Given the description of an element on the screen output the (x, y) to click on. 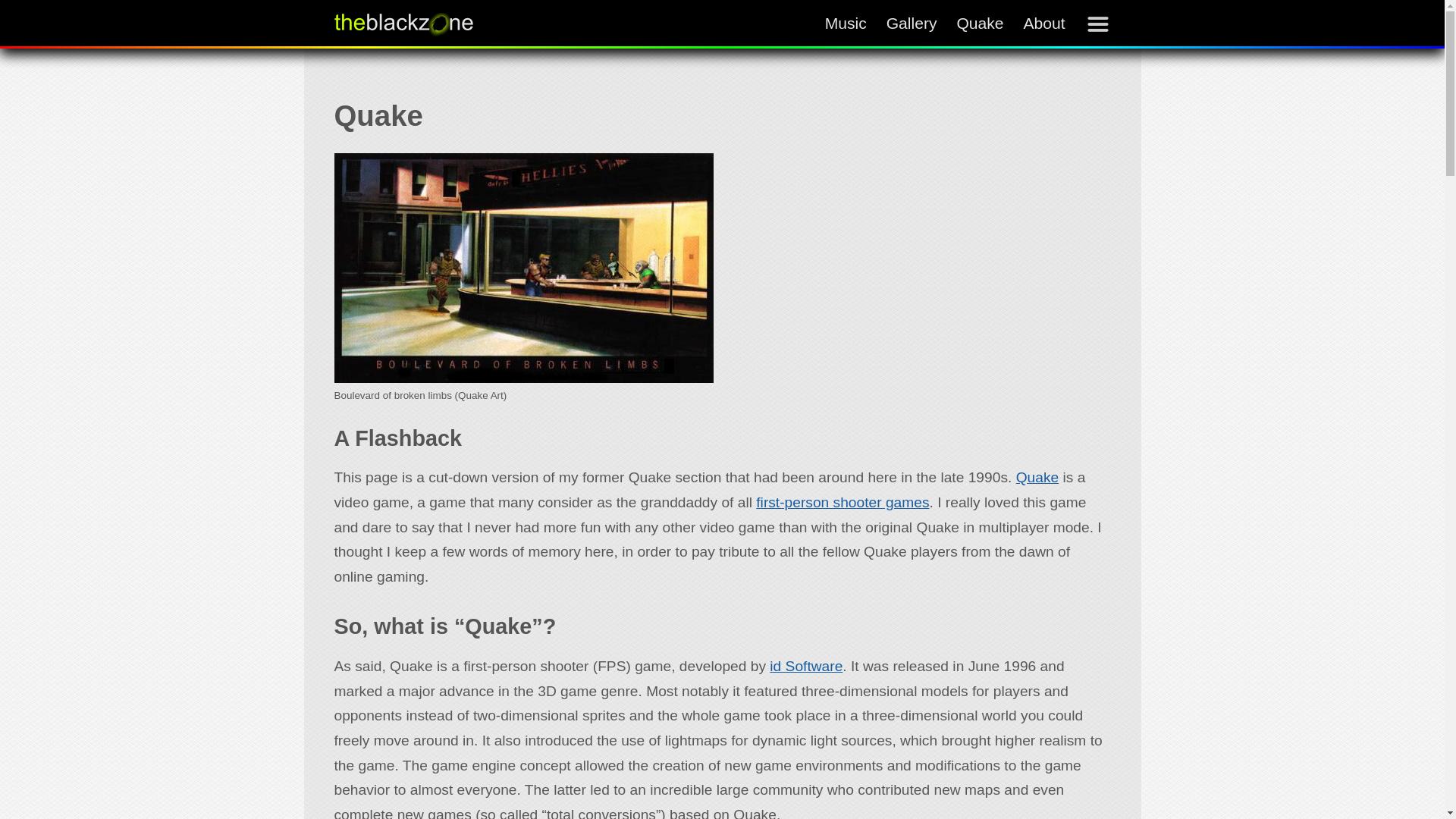
Quake (979, 23)
About (1043, 23)
first-person shooter games (841, 502)
Quake (1037, 477)
id Software (806, 666)
Music (845, 23)
Gallery (911, 23)
